Given the description of an element on the screen output the (x, y) to click on. 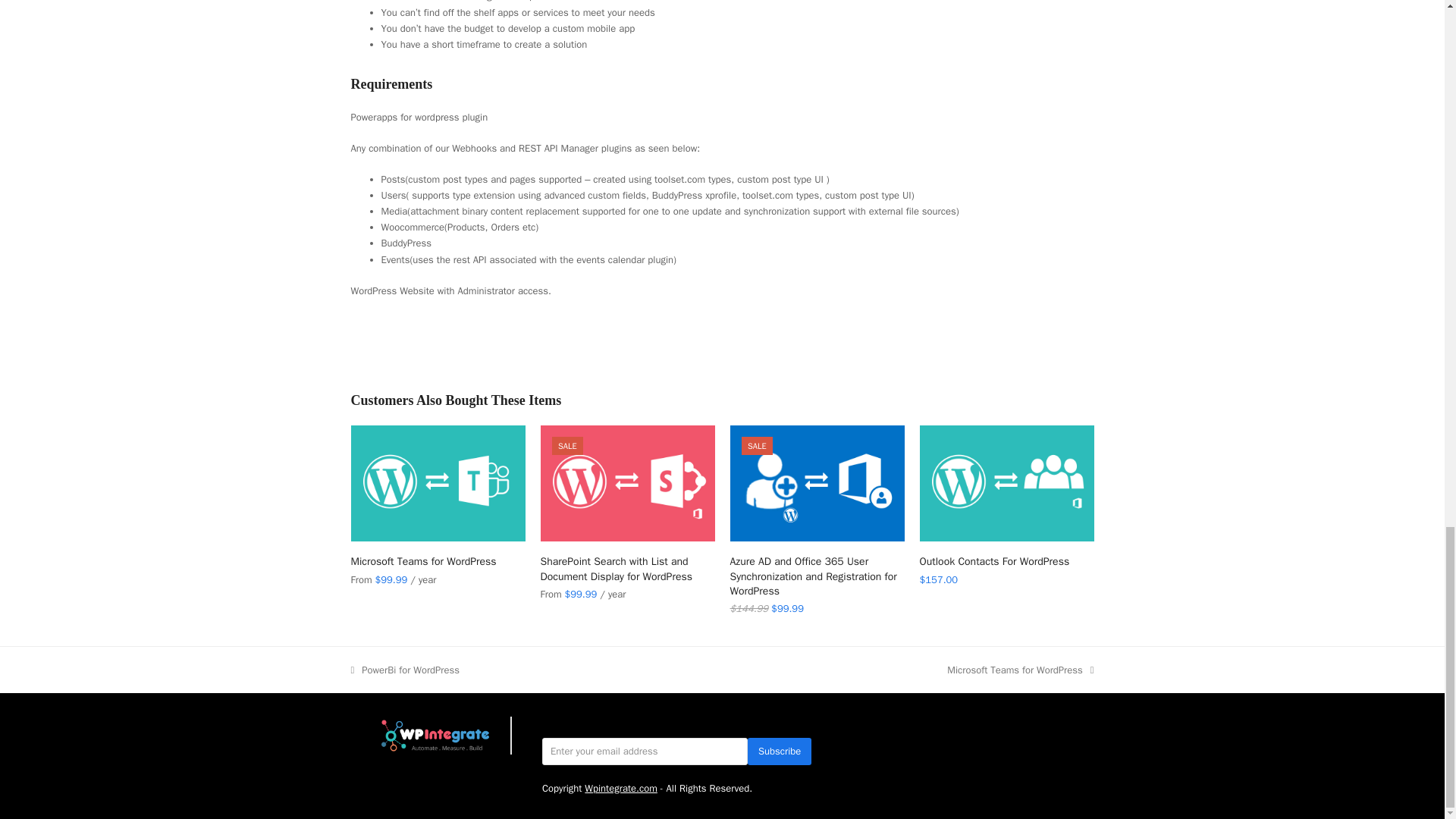
Subscribe (779, 750)
